Given the description of an element on the screen output the (x, y) to click on. 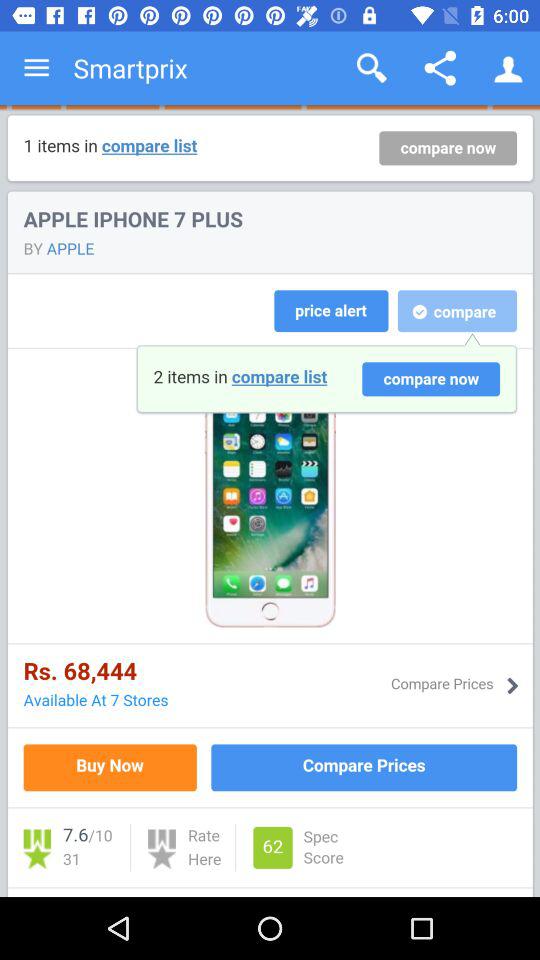
go to advertisement (270, 501)
